Given the description of an element on the screen output the (x, y) to click on. 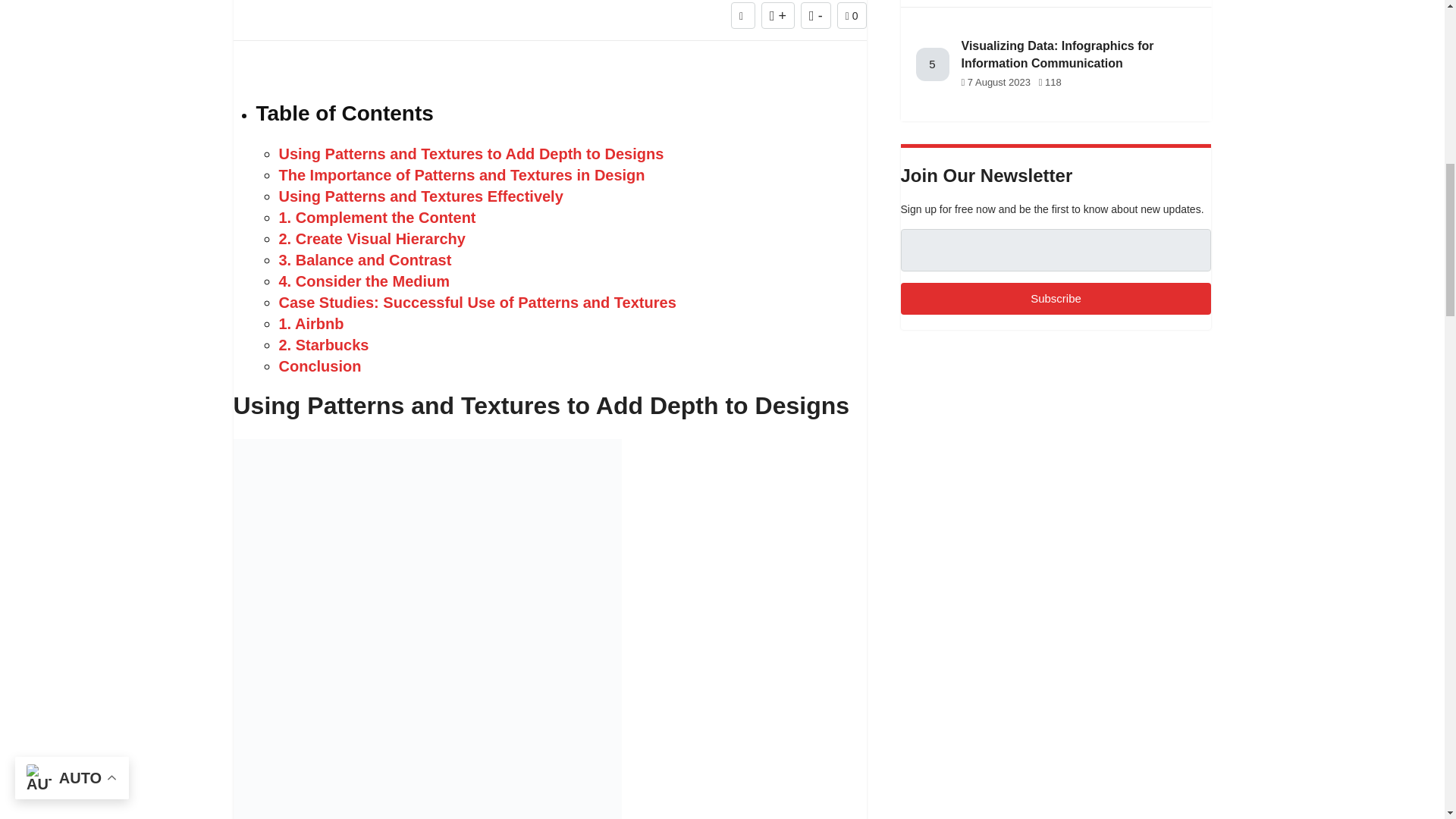
Enlarge Text (777, 15)
Subscribe (1056, 298)
Favorilerime Ekle (742, 15)
Reduce Text (815, 15)
